Given the description of an element on the screen output the (x, y) to click on. 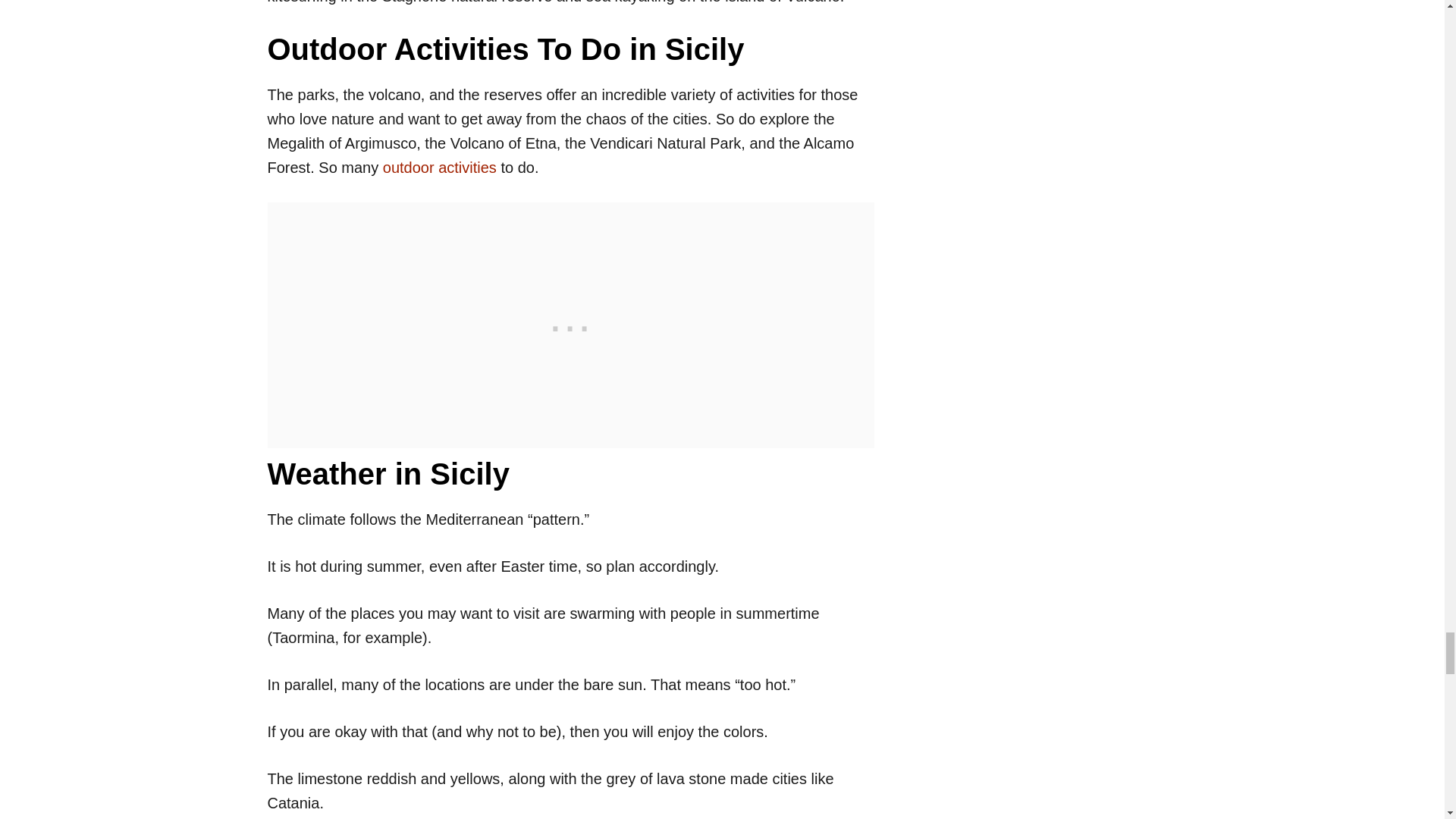
outdoor activities (439, 167)
